Given the description of an element on the screen output the (x, y) to click on. 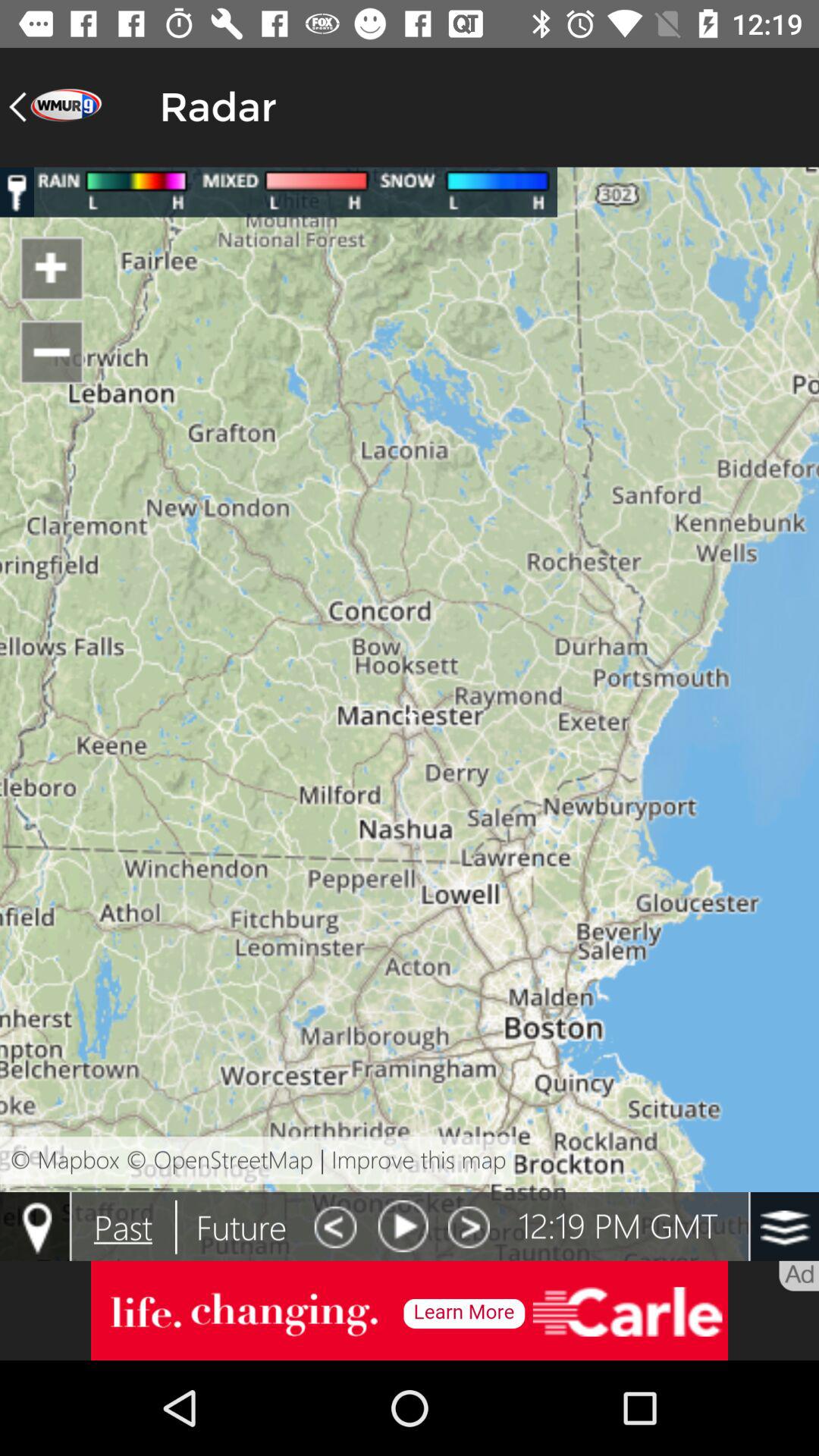
advert pop up (409, 1310)
